Given the description of an element on the screen output the (x, y) to click on. 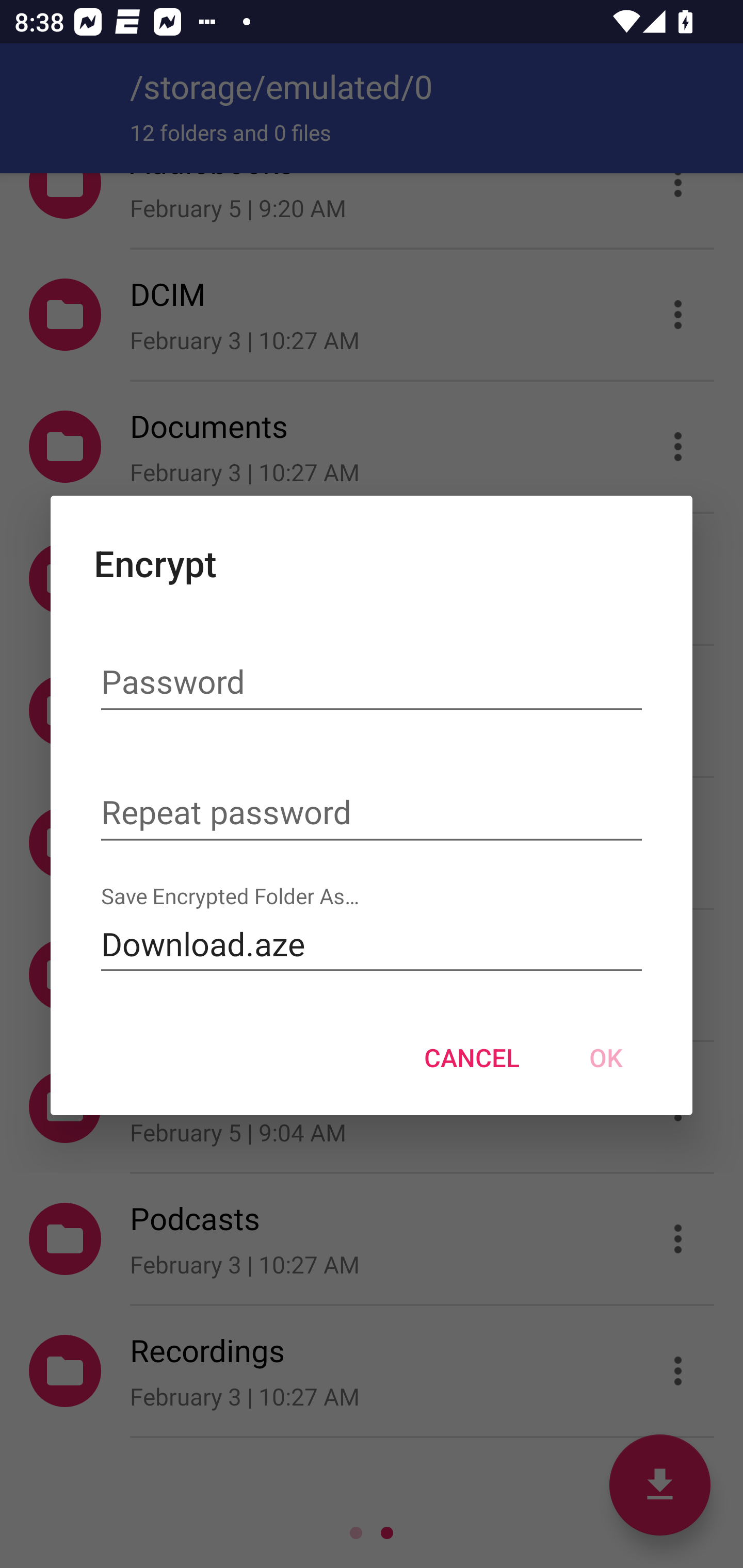
Password (371, 683)
Repeat password (371, 813)
Download.aze (371, 943)
CANCEL (470, 1057)
OK (605, 1057)
